Given the description of an element on the screen output the (x, y) to click on. 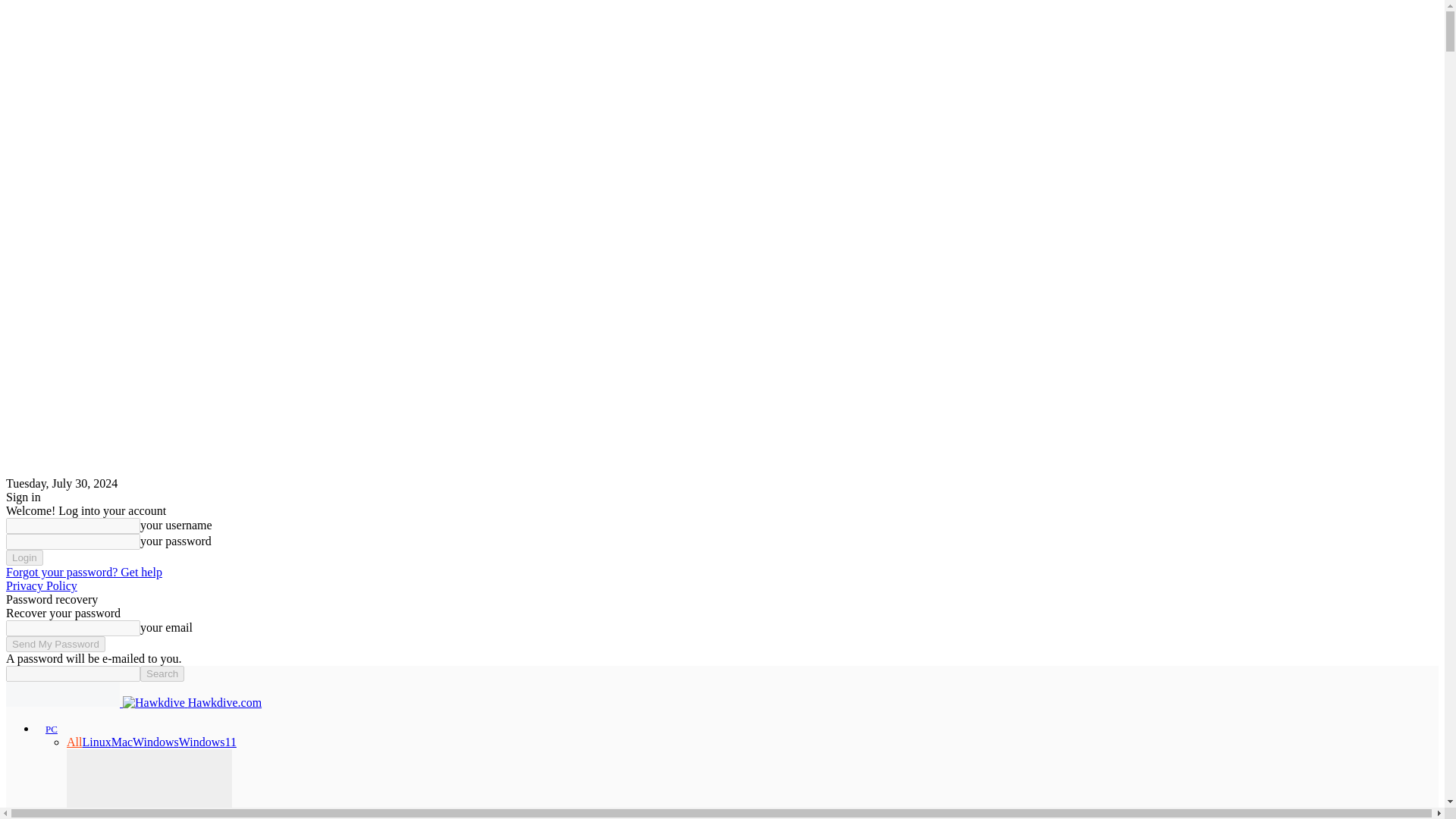
Search (161, 673)
Send My Password (54, 643)
Hawkdive (62, 693)
Login (24, 557)
